Given the description of an element on the screen output the (x, y) to click on. 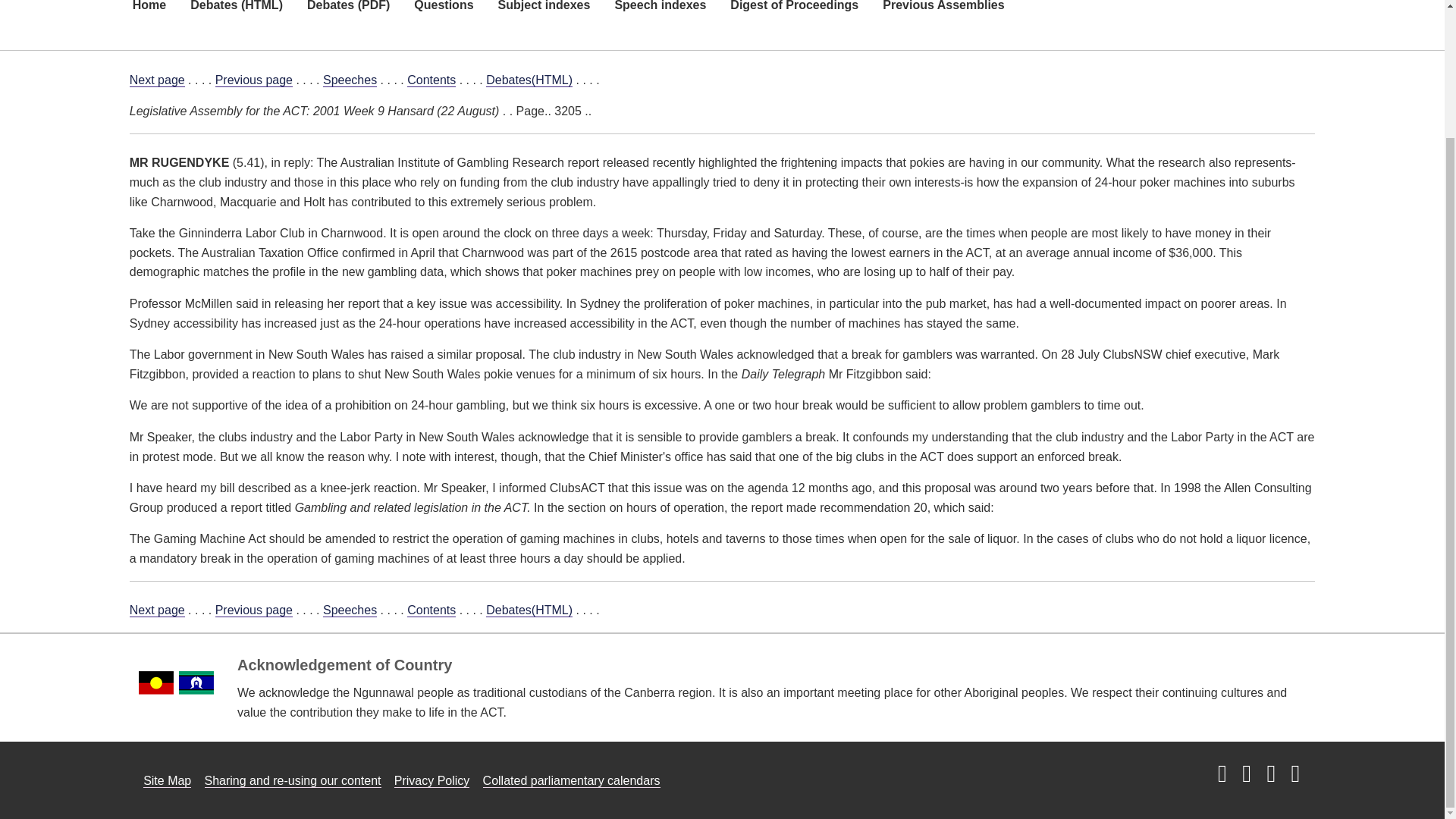
Previous Assemblies (943, 18)
Contents (431, 79)
Questions (442, 18)
Home (148, 18)
Link to Sharing and re-using our content (293, 780)
Privacy Policy (432, 780)
Speeches (350, 79)
Link to Privacy Policy (432, 780)
Collated parliamentary calendars (572, 780)
Previous page (253, 79)
Subject indexes (544, 18)
Contents (431, 610)
Speeches (350, 610)
Digest of Proceedings (793, 18)
Previous page (253, 610)
